Given the description of an element on the screen output the (x, y) to click on. 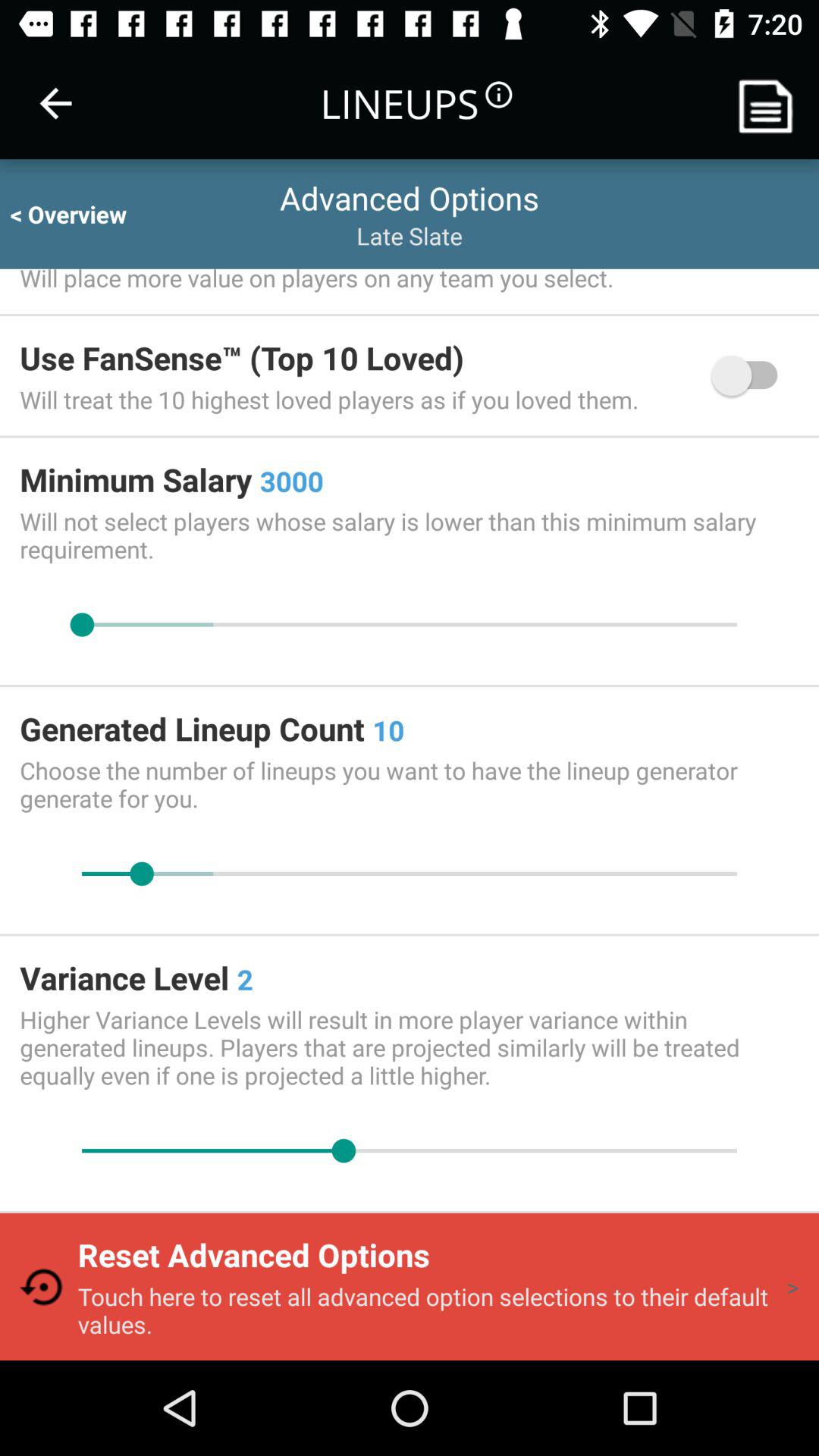
adjust lineup count (409, 873)
